Given the description of an element on the screen output the (x, y) to click on. 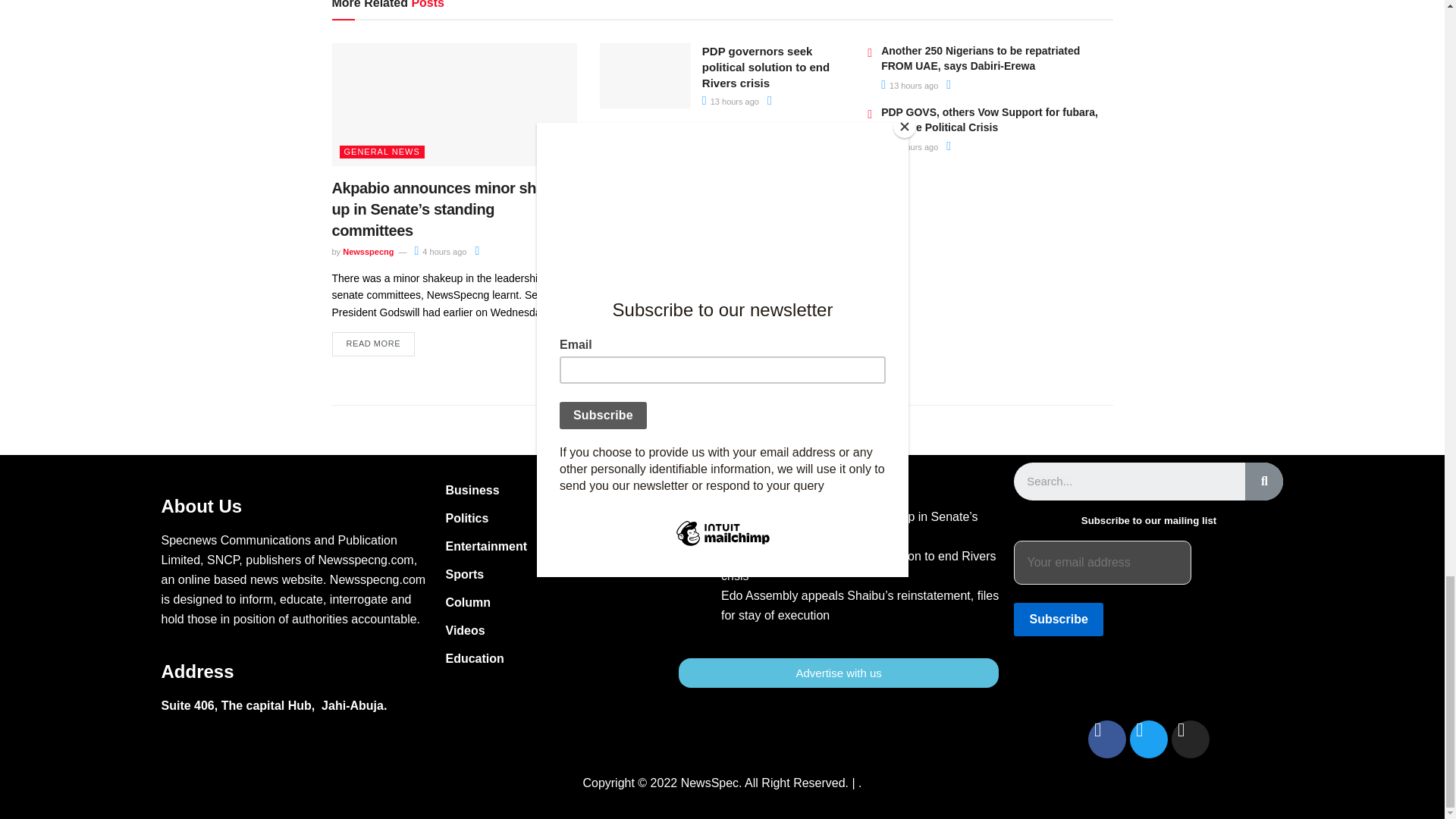
Search (1263, 481)
Subscribe (1057, 619)
Search (1128, 481)
